Given the description of an element on the screen output the (x, y) to click on. 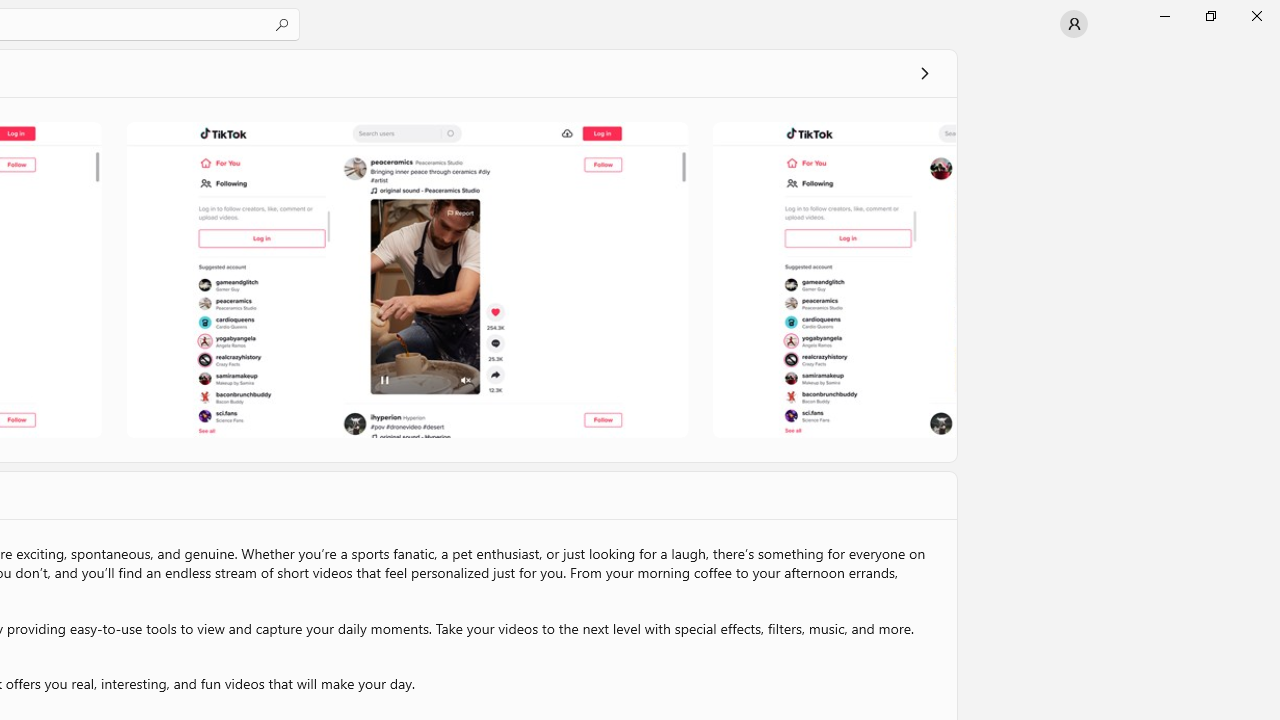
Screenshot 3 (832, 279)
User profile (1073, 24)
See all (924, 72)
Restore Microsoft Store (1210, 15)
Screenshot 2 (406, 279)
Minimize Microsoft Store (1164, 15)
Close Microsoft Store (1256, 15)
